Given the description of an element on the screen output the (x, y) to click on. 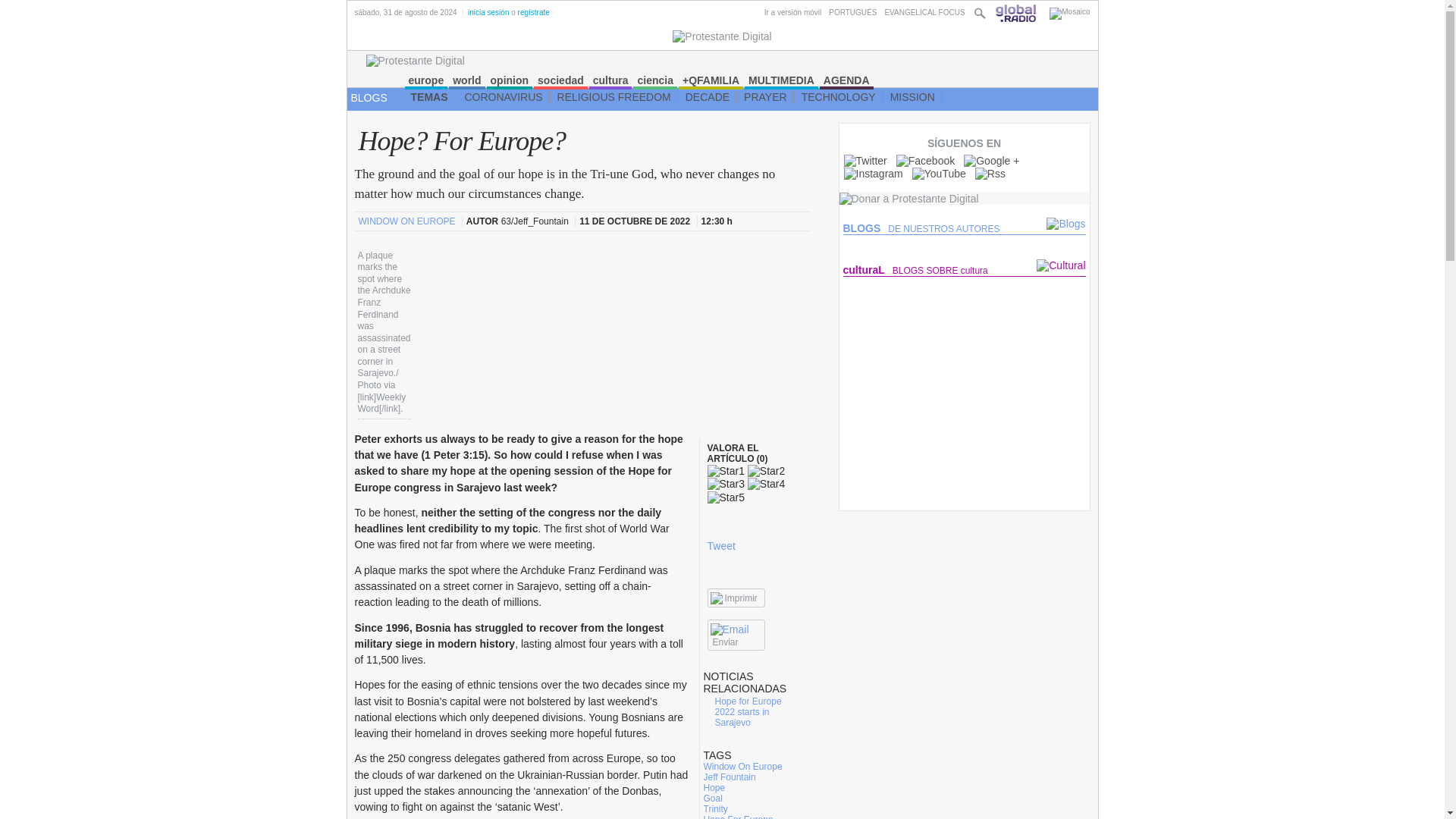
WINDOW ON EUROPE (407, 221)
BLOGS (368, 97)
Tweet (720, 545)
